Given the description of an element on the screen output the (x, y) to click on. 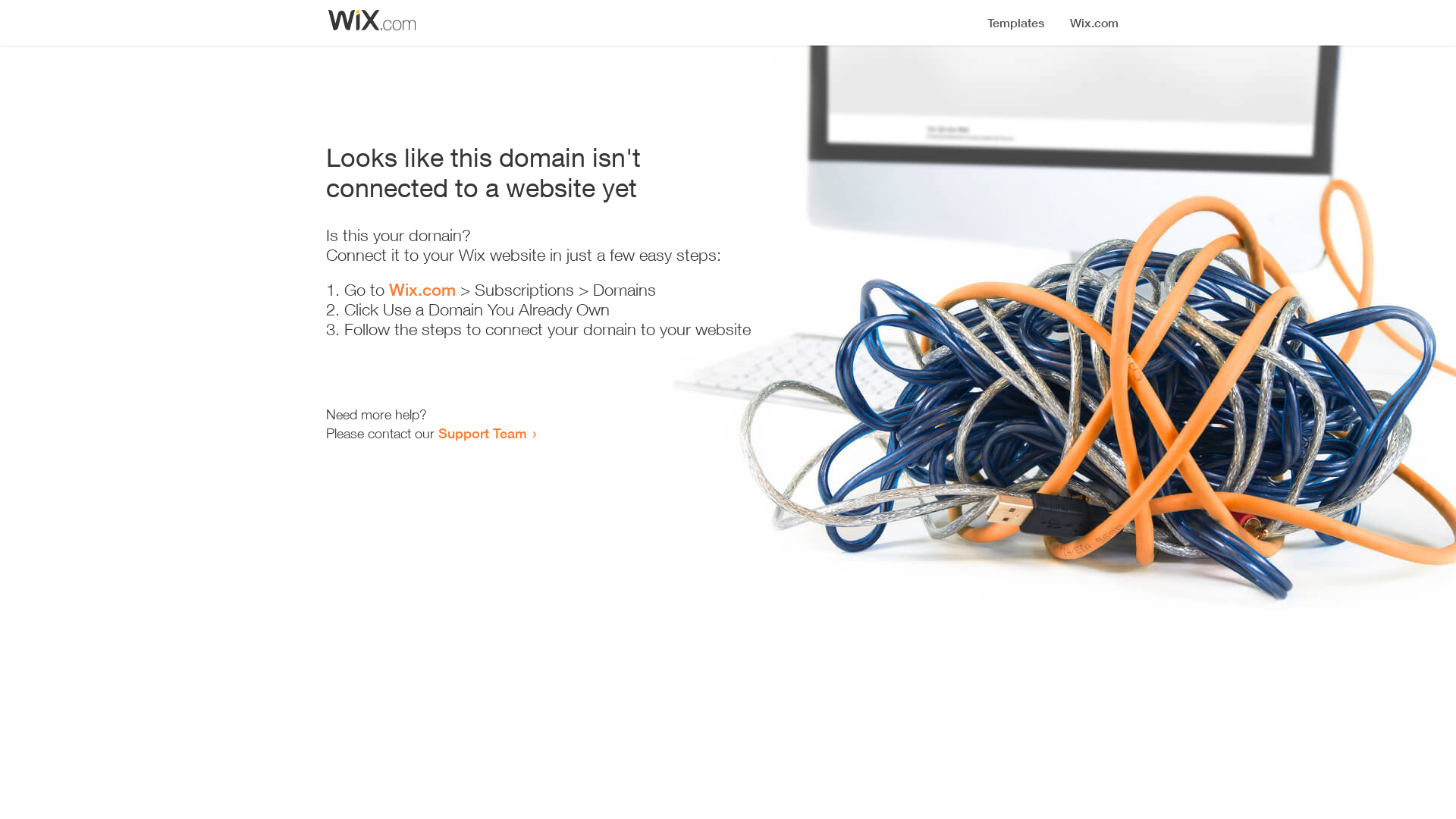
Wix.com Element type: text (422, 289)
Support Team Element type: text (482, 432)
